Given the description of an element on the screen output the (x, y) to click on. 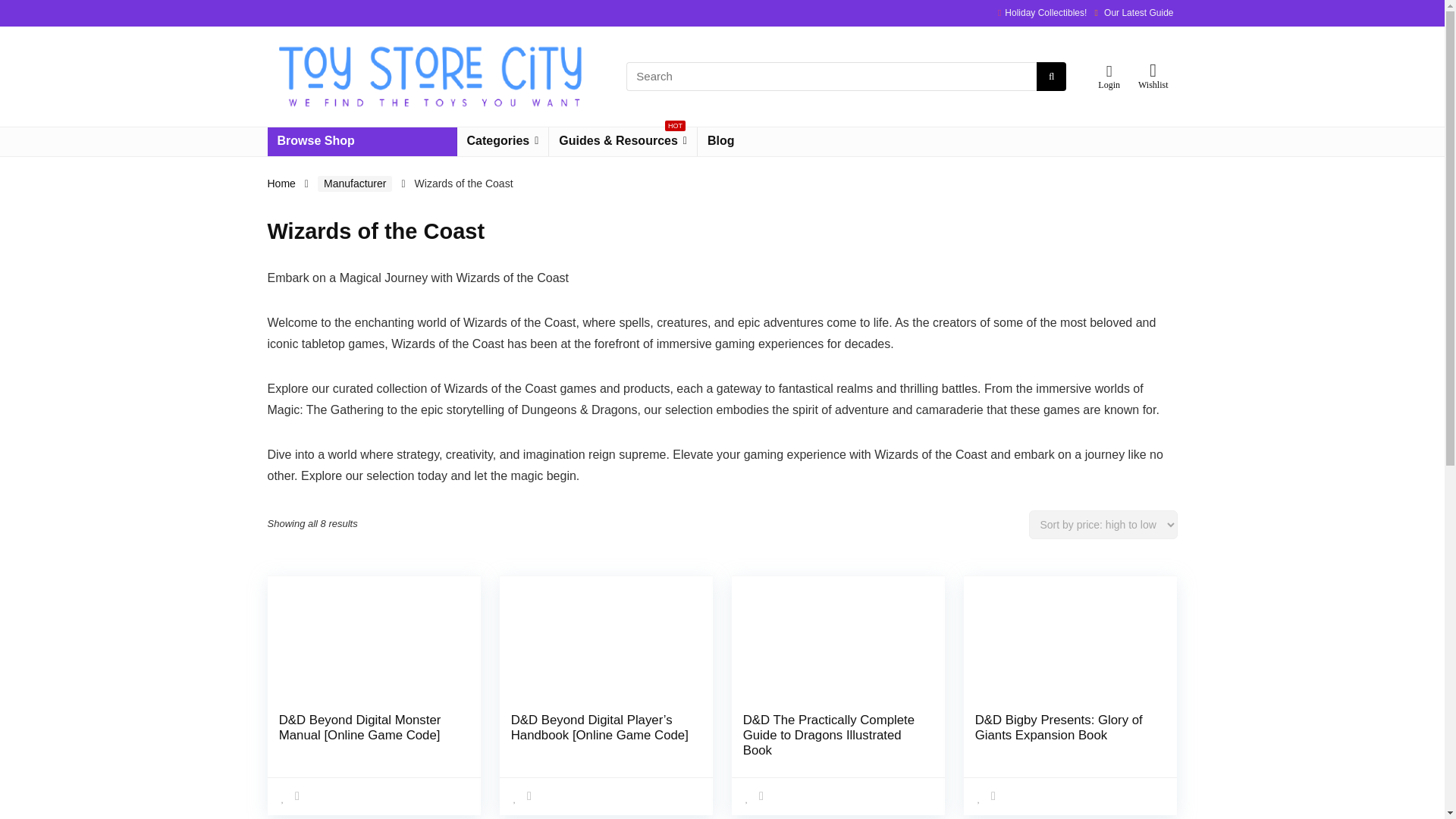
Our Latest Guide (1138, 12)
Browse Shop (360, 141)
Holiday Collectibles! (1045, 12)
Categories (502, 141)
